Given the description of an element on the screen output the (x, y) to click on. 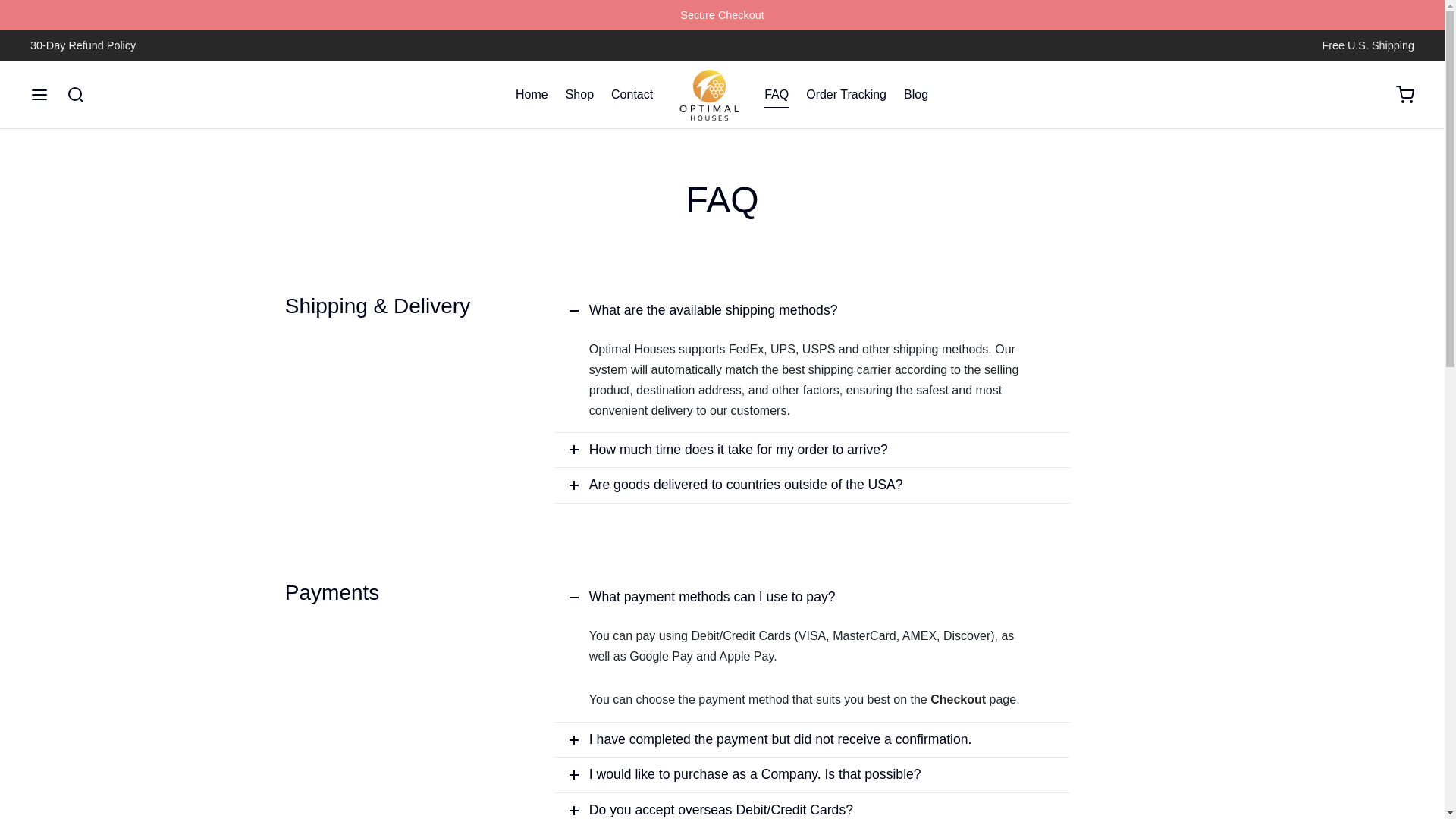
Contact (631, 94)
Blog (916, 94)
Checkout (957, 699)
Are goods delivered to countries outside of the USA? (812, 484)
What payment methods can I use to pay? (812, 597)
FAQ (776, 94)
I would like to purchase as a Company. Is that possible? (812, 774)
What are the available shipping methods? (812, 310)
How much time does it take for my order to arrive? (812, 450)
Shop (580, 94)
Order Tracking (846, 94)
Home (531, 94)
